Given the description of an element on the screen output the (x, y) to click on. 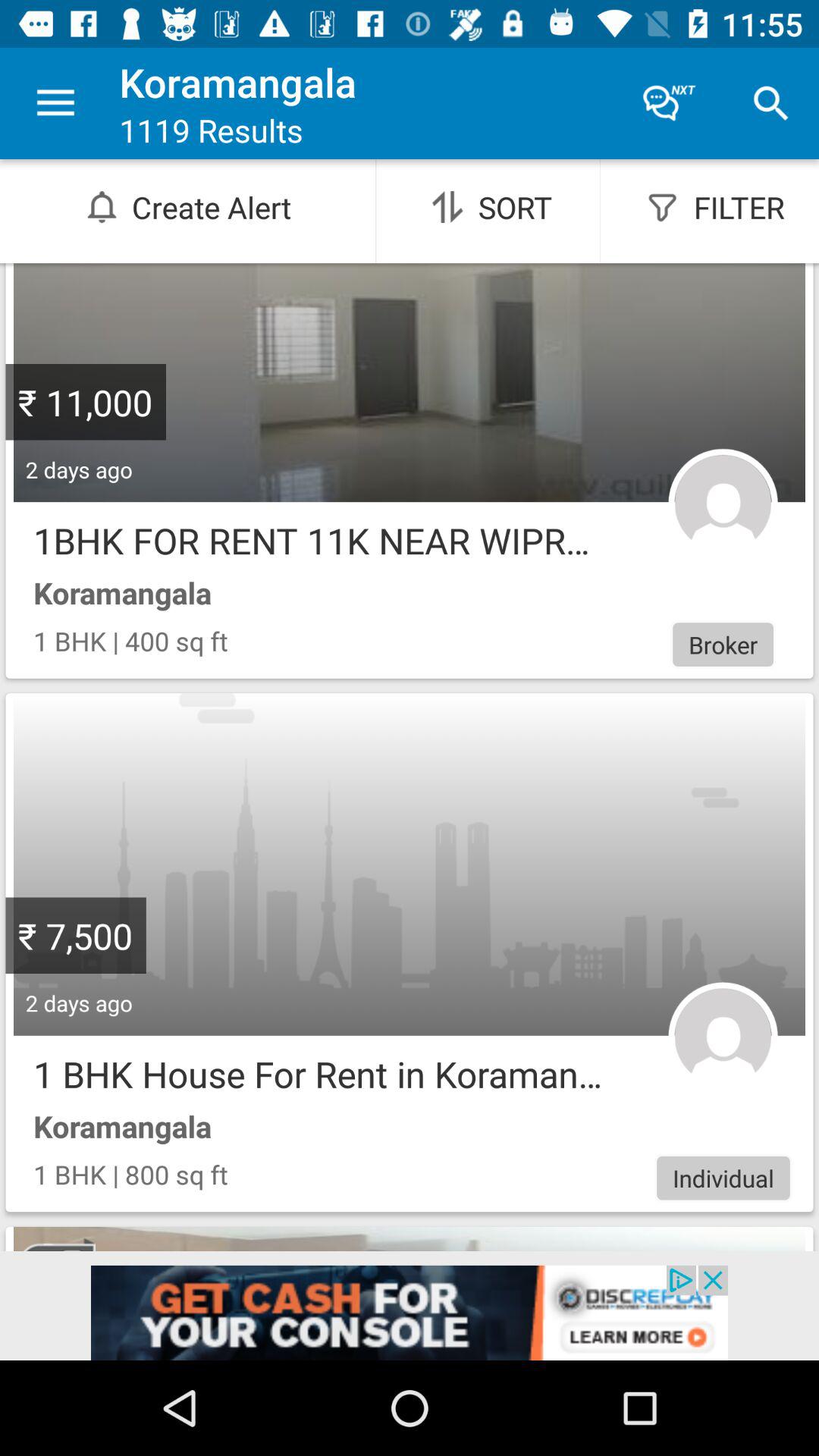
select the add (409, 1312)
